Given the description of an element on the screen output the (x, y) to click on. 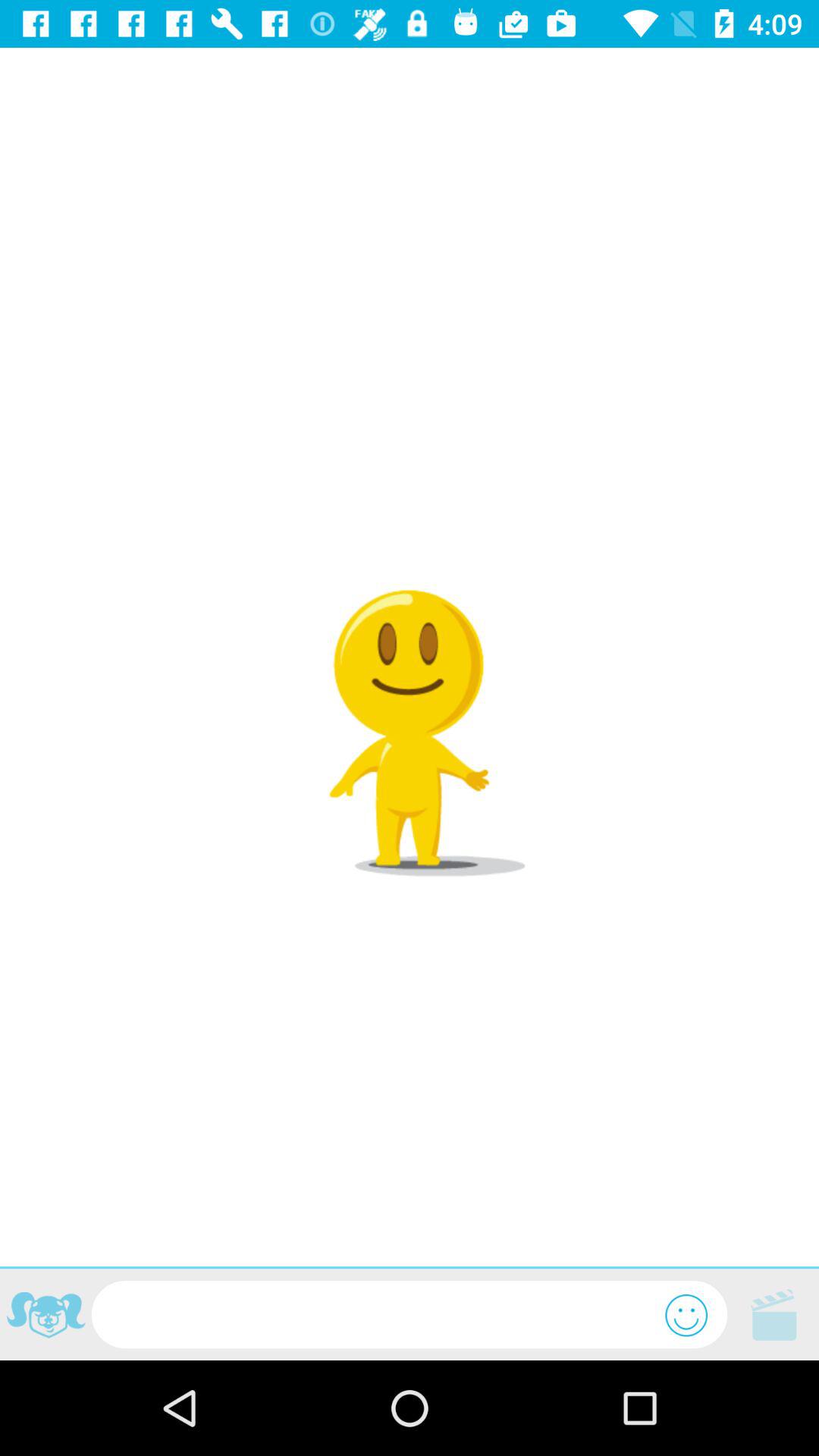
emoji options (686, 1315)
